Given the description of an element on the screen output the (x, y) to click on. 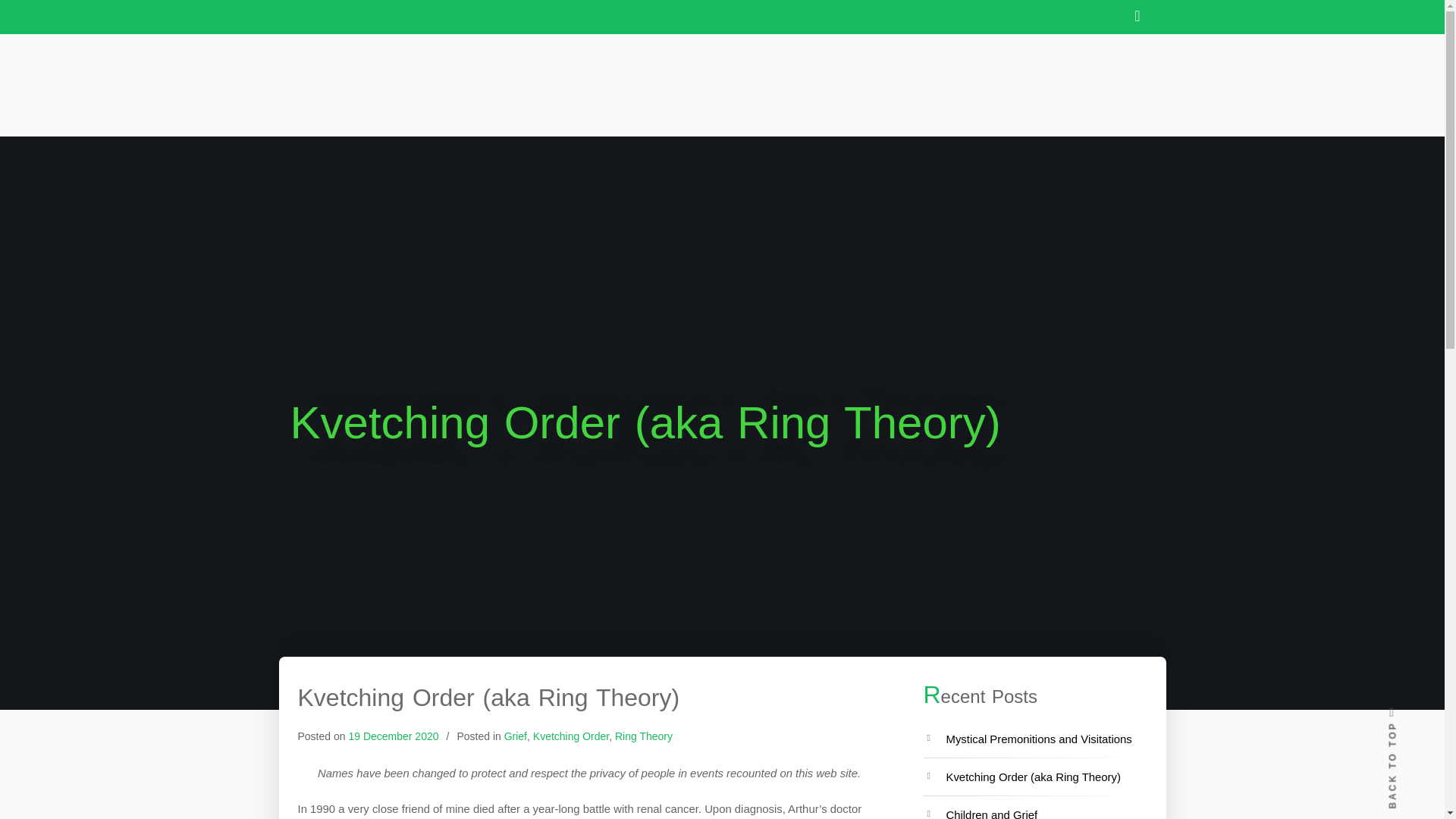
Grief (515, 736)
Mystical Premonitions and Visitations (1039, 739)
Children and Grief (992, 814)
Kvetching Order (570, 736)
Ring Theory (643, 736)
